Given the description of an element on the screen output the (x, y) to click on. 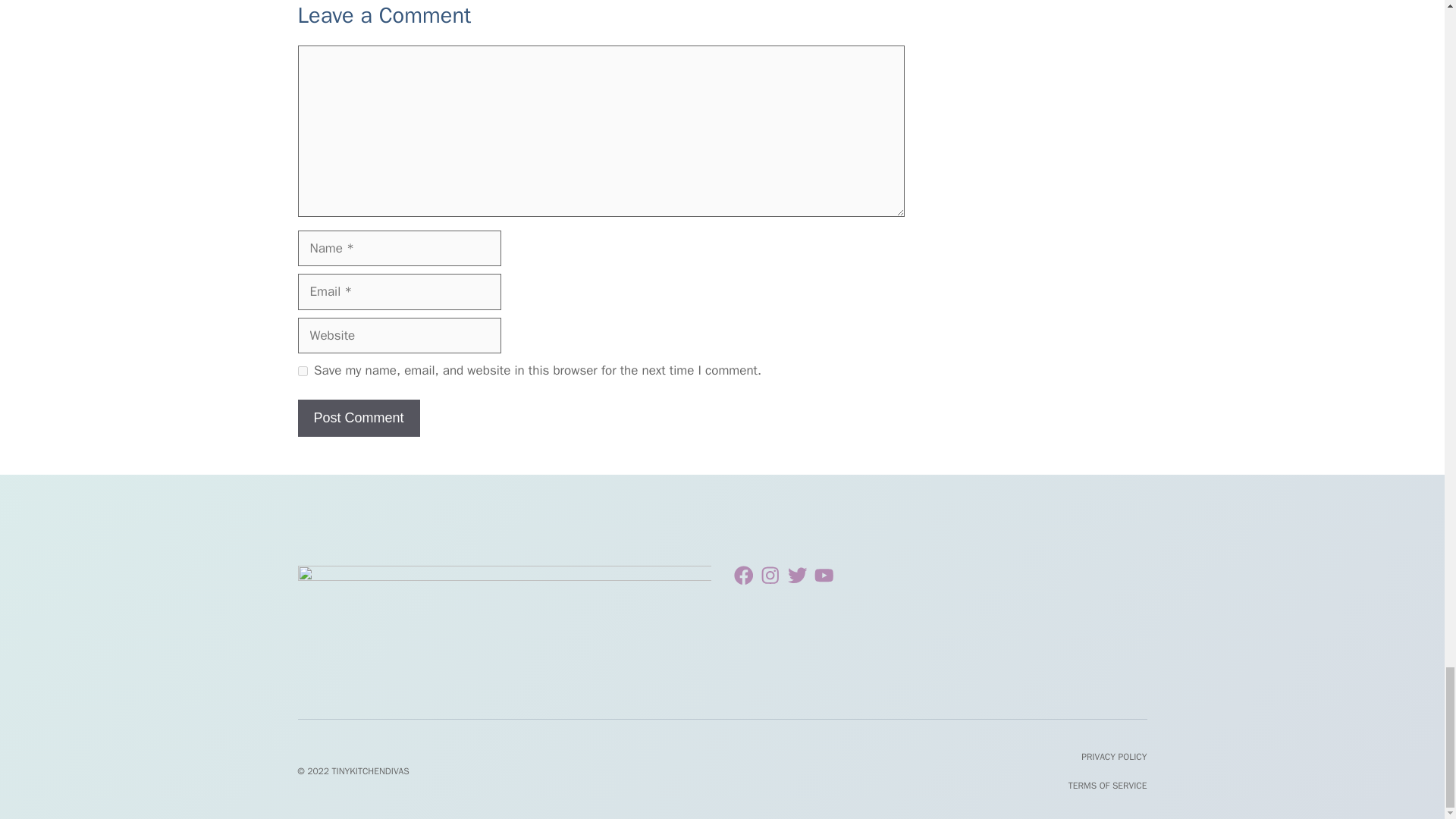
yes (302, 370)
Post Comment (358, 417)
Post Comment (358, 417)
